Given the description of an element on the screen output the (x, y) to click on. 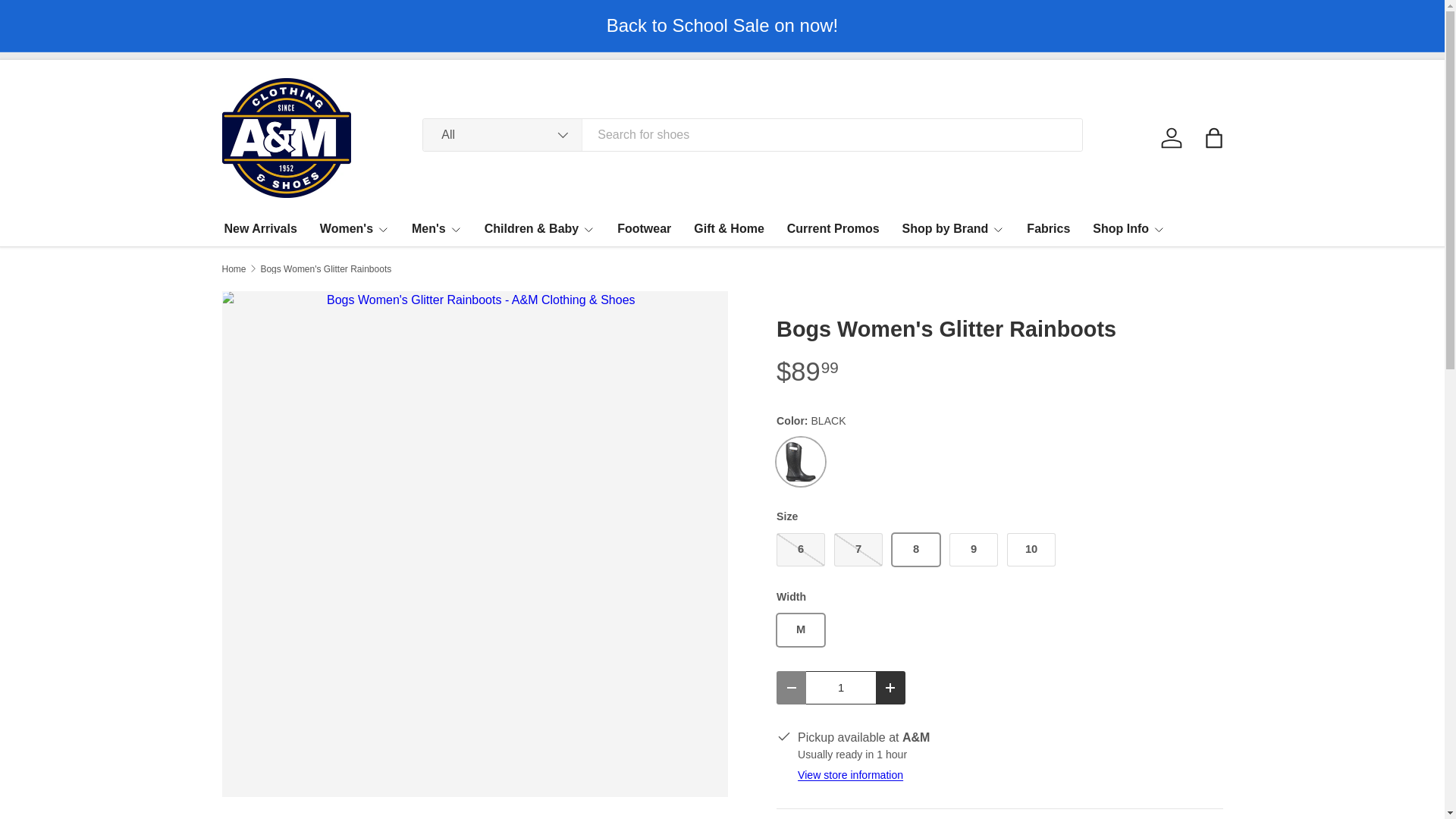
1 (841, 687)
Skip to content (64, 21)
Bag (1213, 137)
All (502, 134)
New Arrivals (260, 227)
